Given the description of an element on the screen output the (x, y) to click on. 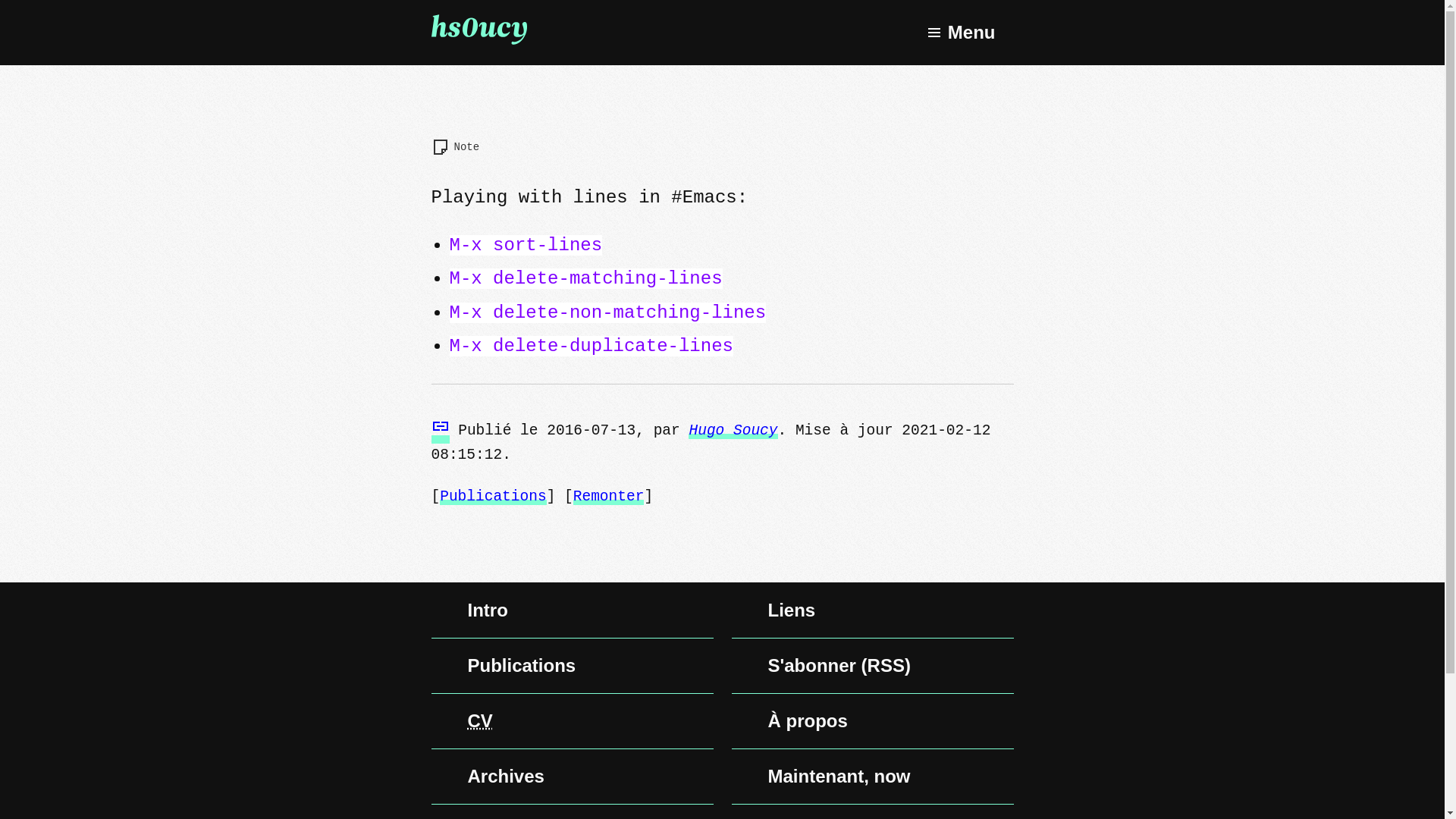
Permalien Element type: text (439, 430)
Intro Element type: text (571, 610)
Hugo Soucy Element type: text (732, 430)
S'abonner (RSS) Element type: text (872, 665)
Publications Element type: text (571, 665)
Aller Au 
Menu
De Navigation Element type: text (959, 32)
Liens Element type: text (872, 610)
Publications Element type: text (492, 496)
Remonter Element type: text (608, 496)
CV Element type: text (571, 720)
Archives Element type: text (571, 776)
Maintenant, now Element type: text (872, 776)
